Given the description of an element on the screen output the (x, y) to click on. 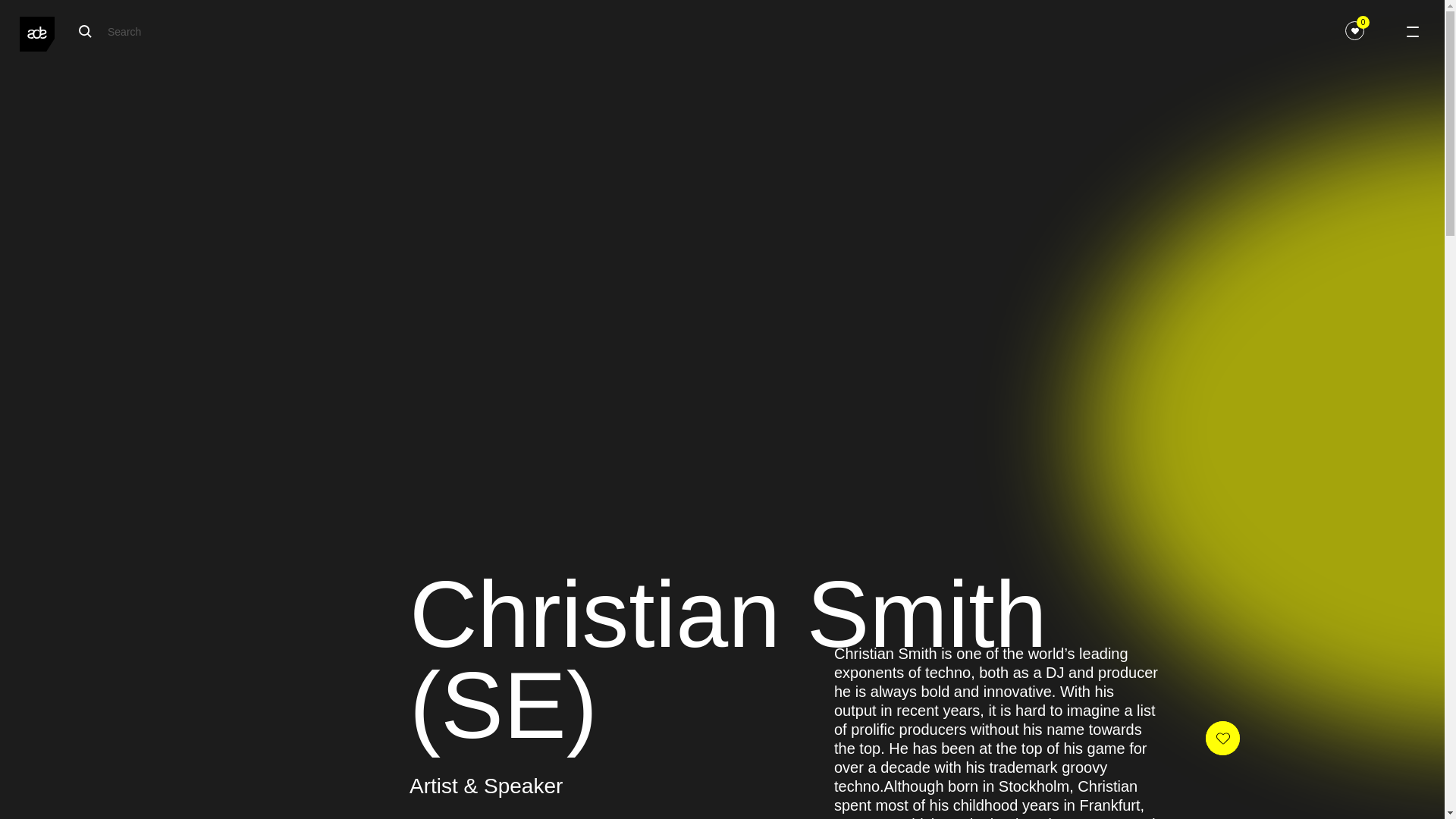
0 (1354, 30)
Search (291, 31)
